Given the description of an element on the screen output the (x, y) to click on. 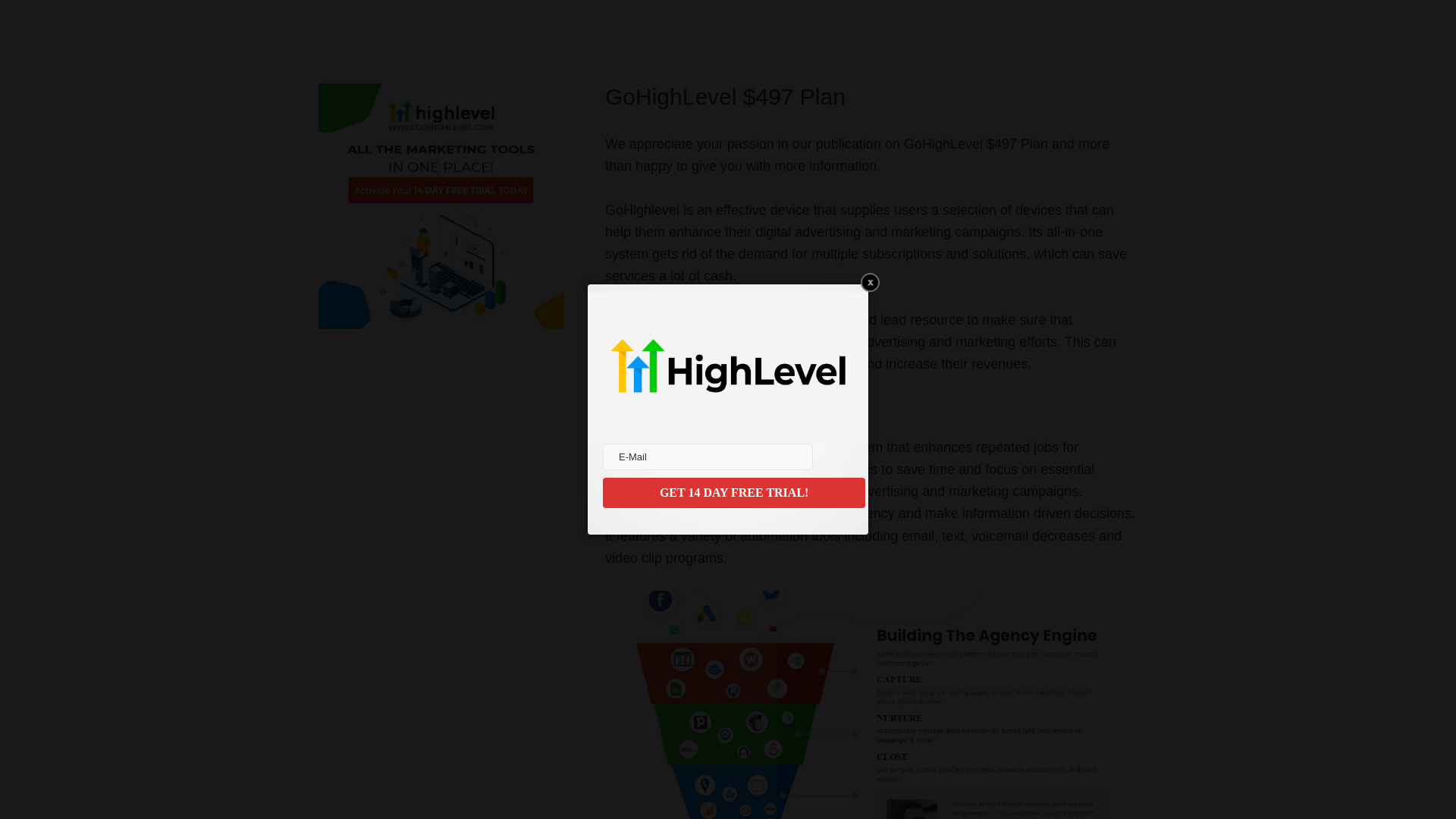
GET 14 DAY FREE TRIAL! (733, 492)
GET 14 DAY FREE TRIAL! (733, 492)
